Given the description of an element on the screen output the (x, y) to click on. 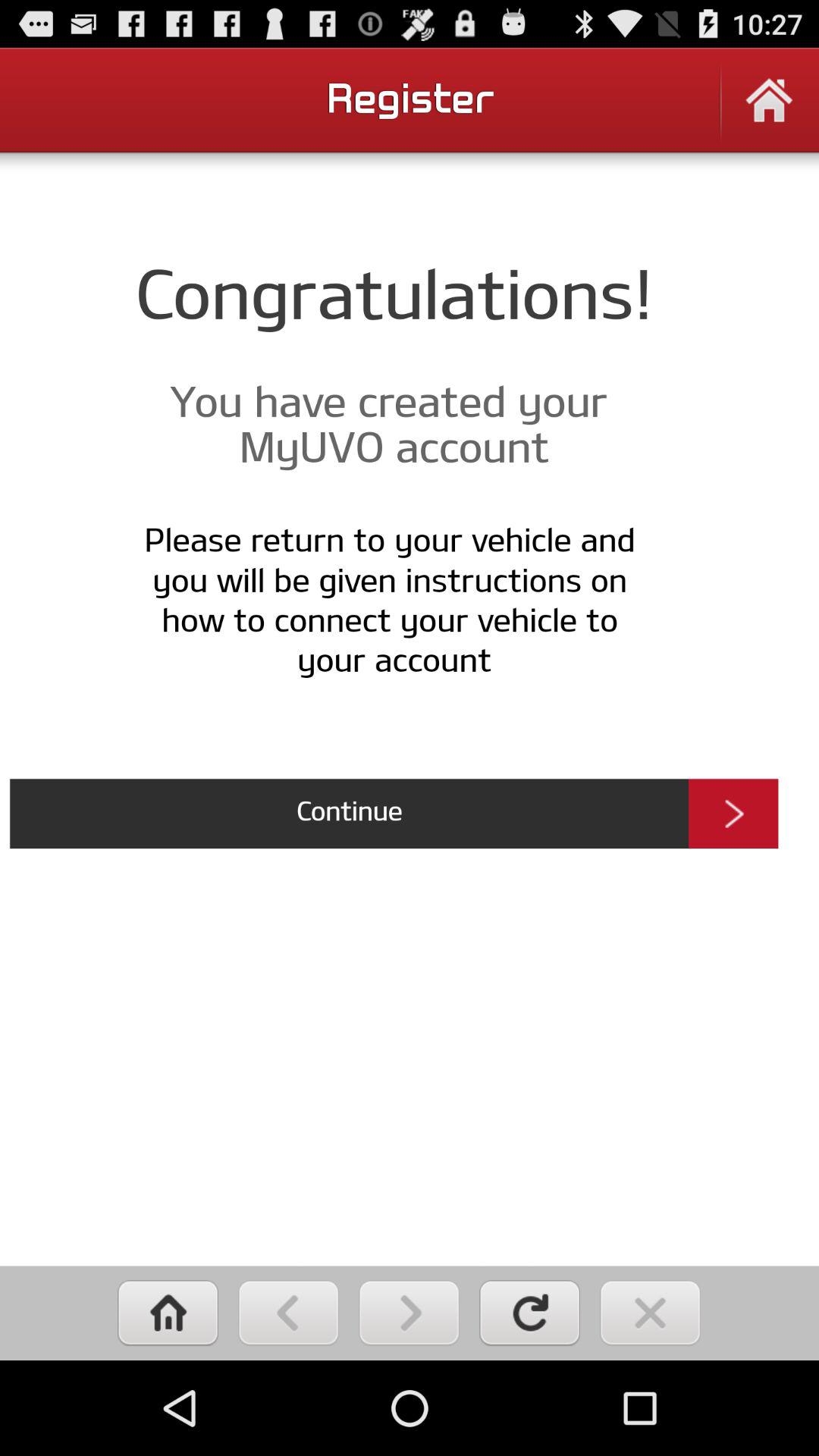
close (650, 1313)
